Given the description of an element on the screen output the (x, y) to click on. 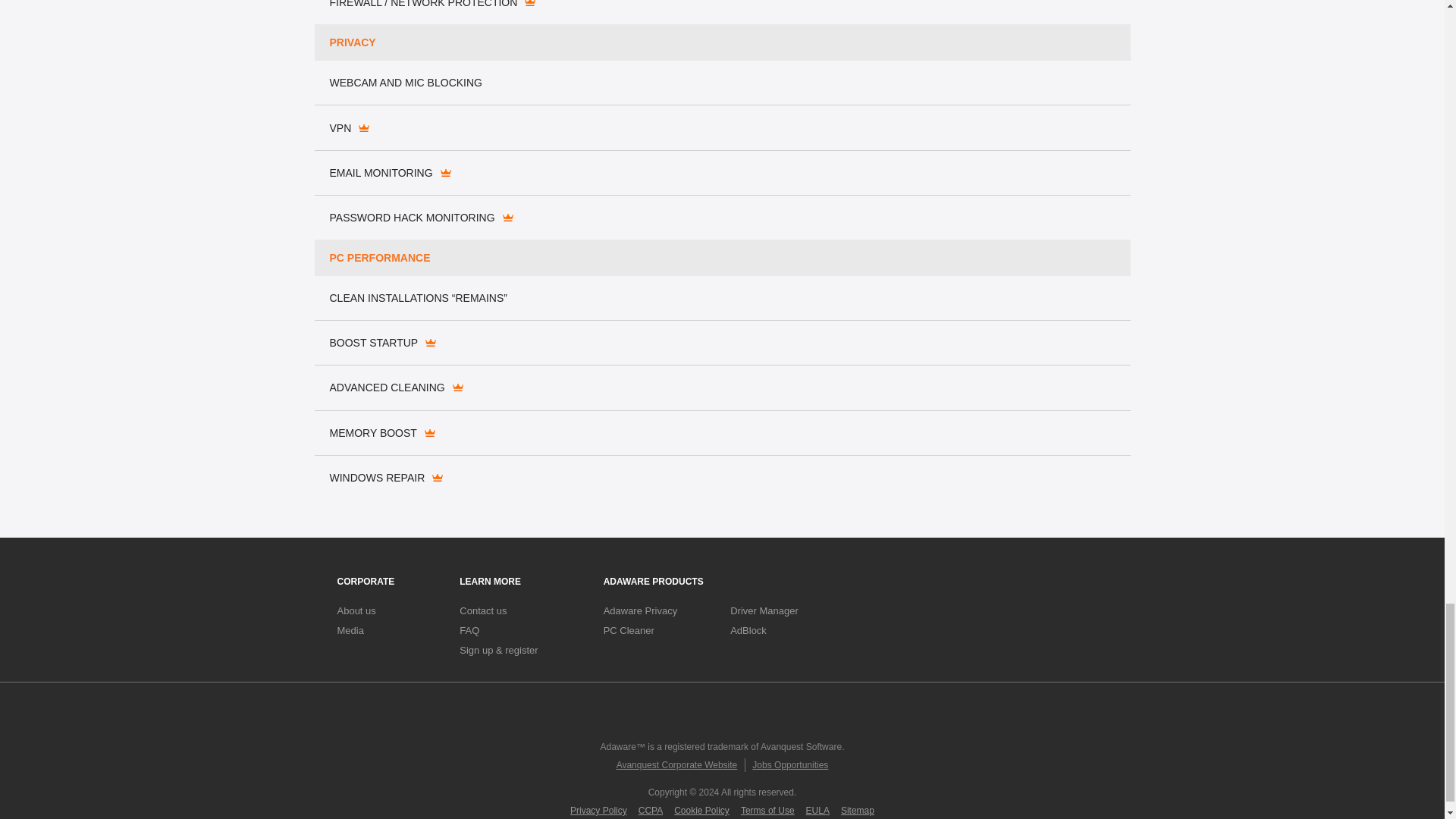
FAQ (469, 630)
Media (349, 630)
About us (355, 610)
Contact us (483, 610)
